Given the description of an element on the screen output the (x, y) to click on. 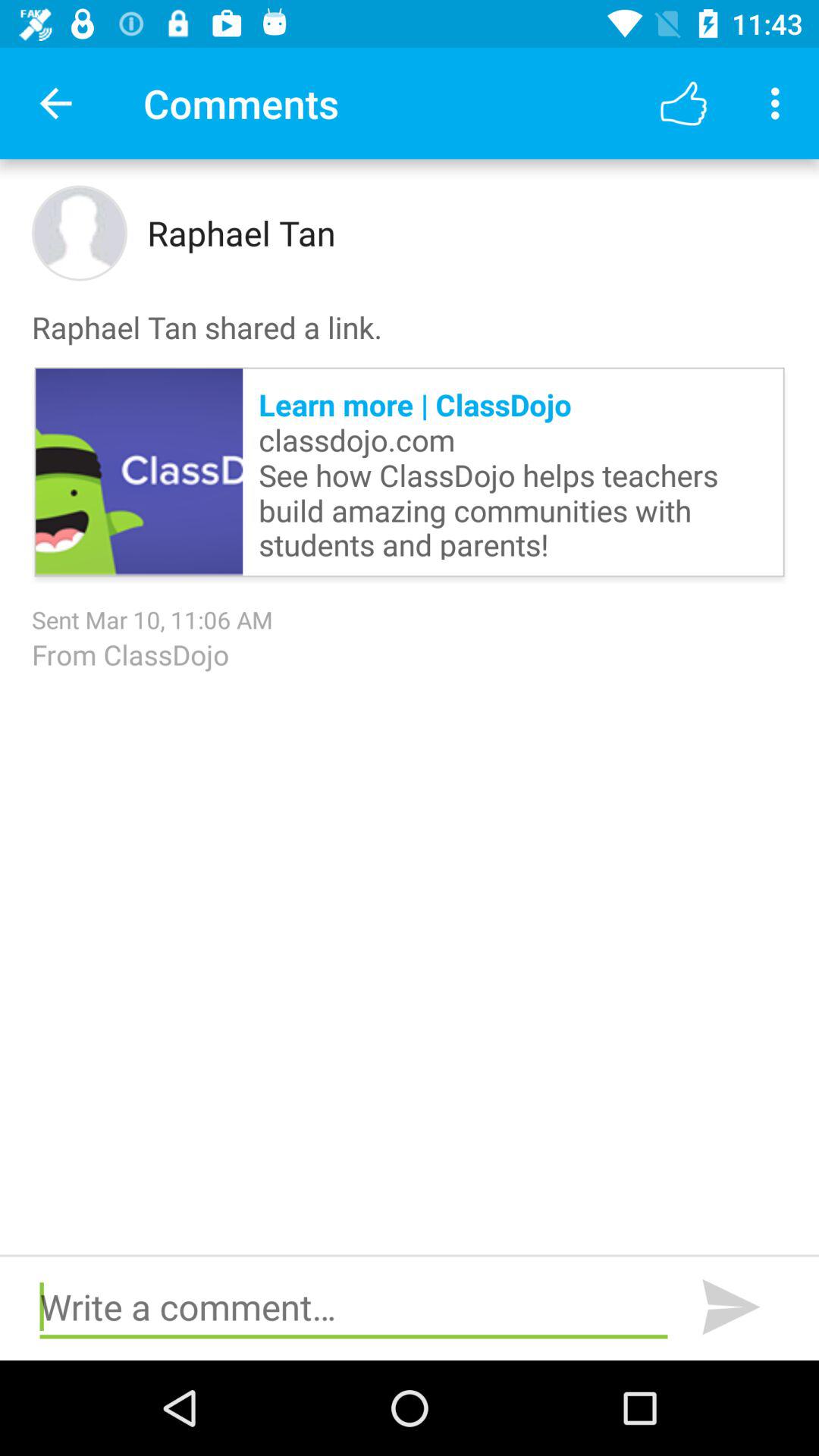
jump until learn more classdojo item (512, 471)
